Given the description of an element on the screen output the (x, y) to click on. 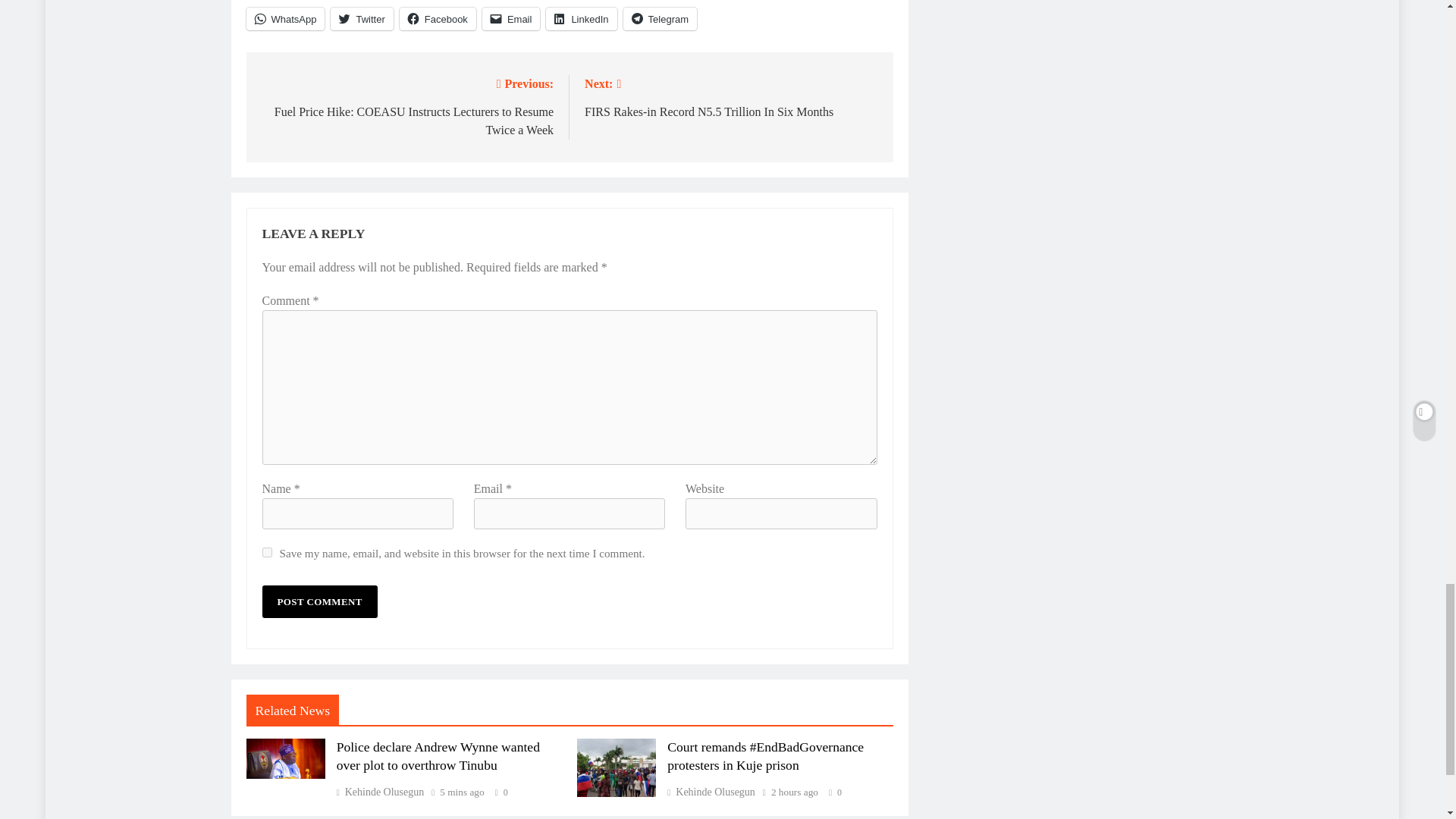
Telegram (660, 18)
Click to share on Twitter (361, 18)
Click to share on WhatsApp (285, 18)
Twitter (361, 18)
Click to email a link to a friend (510, 18)
Click to share on Telegram (660, 18)
LinkedIn (580, 18)
Kehinde Olusegun (380, 791)
